Given the description of an element on the screen output the (x, y) to click on. 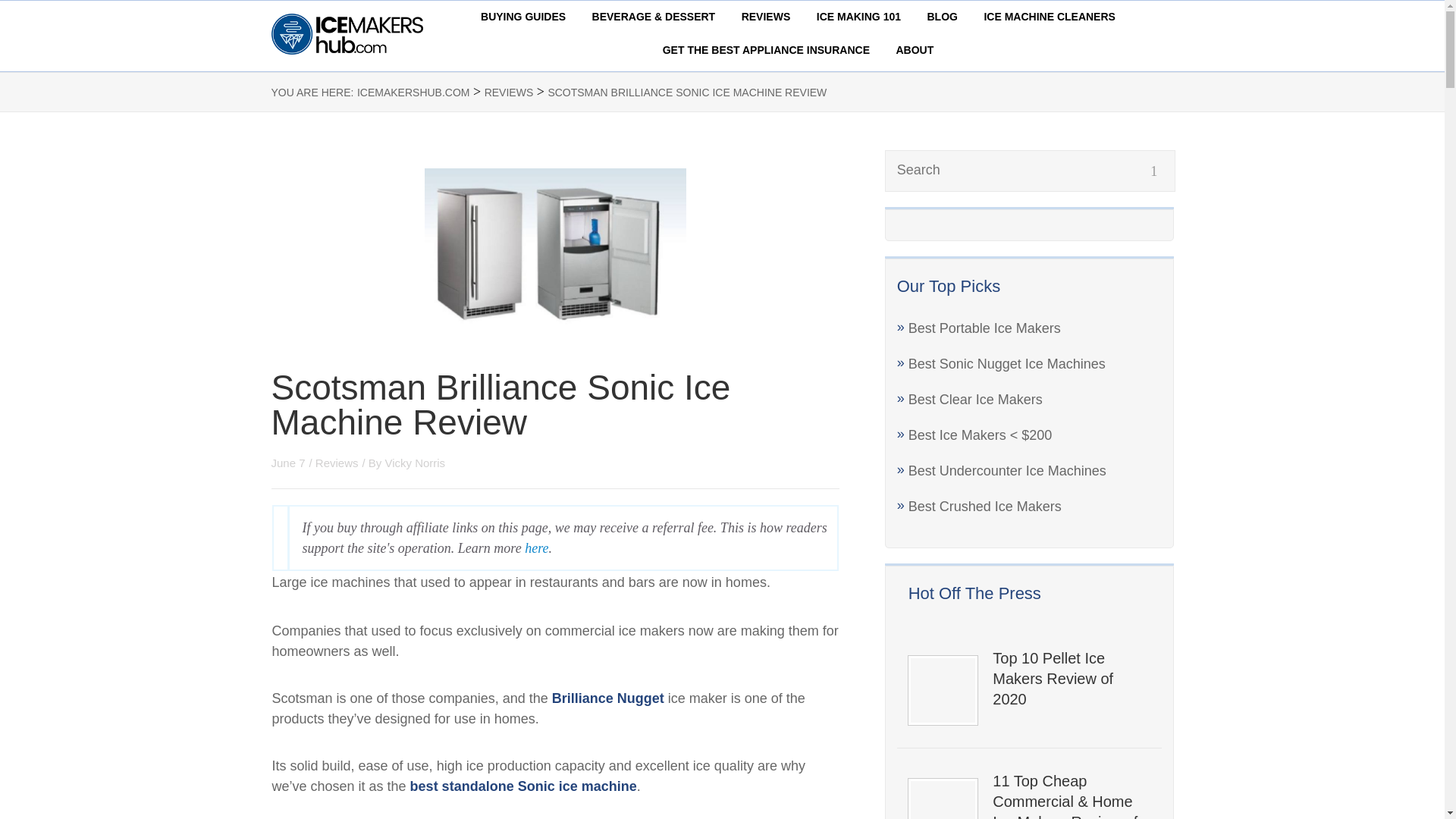
BUYING GUIDES (523, 16)
REVIEWS (765, 16)
Go to icemakershub.com. (413, 92)
ICE MAKING 101 (858, 16)
BLOG (941, 16)
ABOUT (915, 50)
GET THE BEST APPLIANCE INSURANCE (765, 50)
Go to the Reviews category archives. (509, 92)
ICE MACHINE CLEANERS (1049, 16)
Go to Scotsman Brilliance Sonic Ice Machine Review. (687, 92)
